Given the description of an element on the screen output the (x, y) to click on. 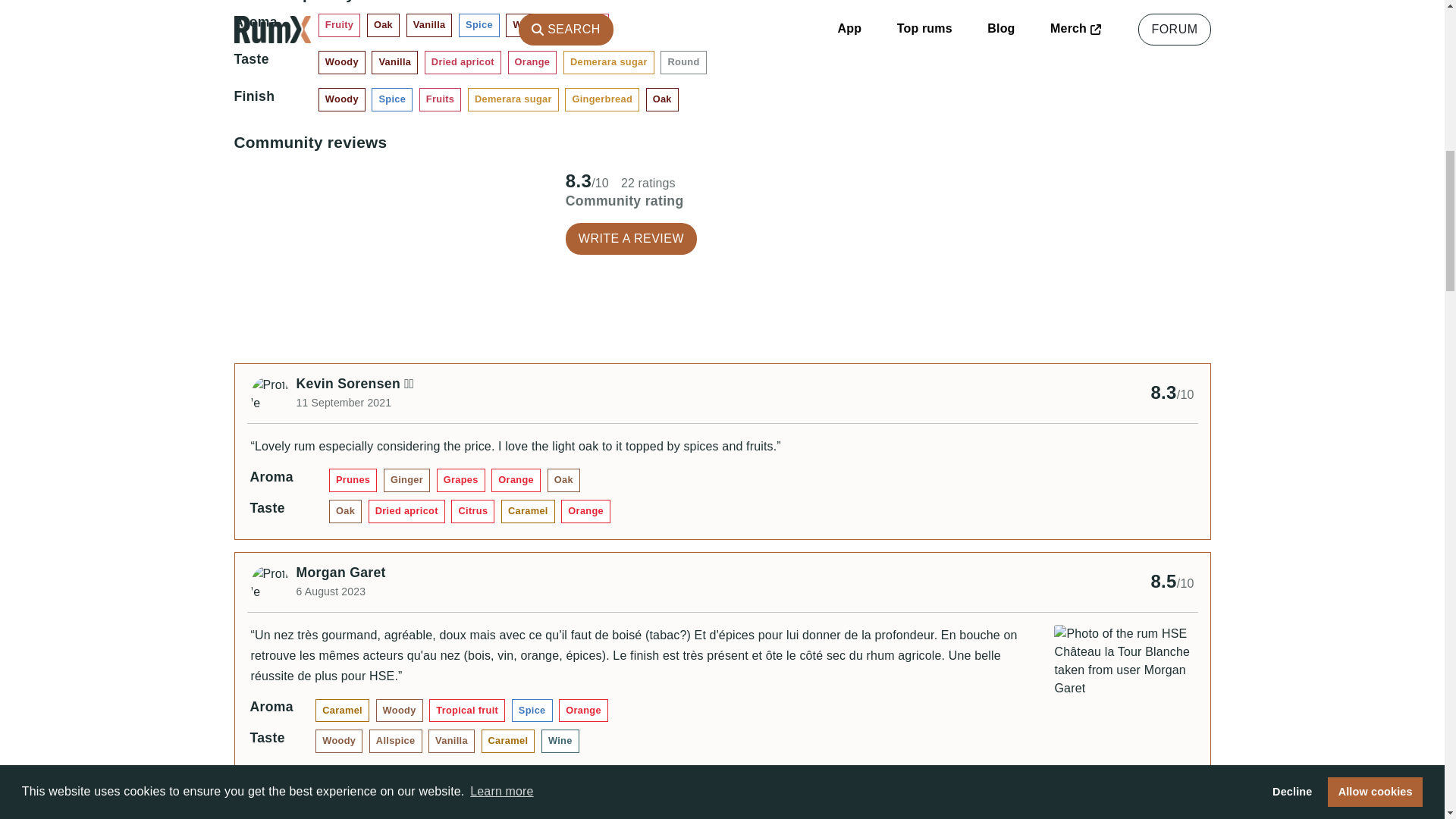
WRITE A REVIEW (631, 238)
